Given the description of an element on the screen output the (x, y) to click on. 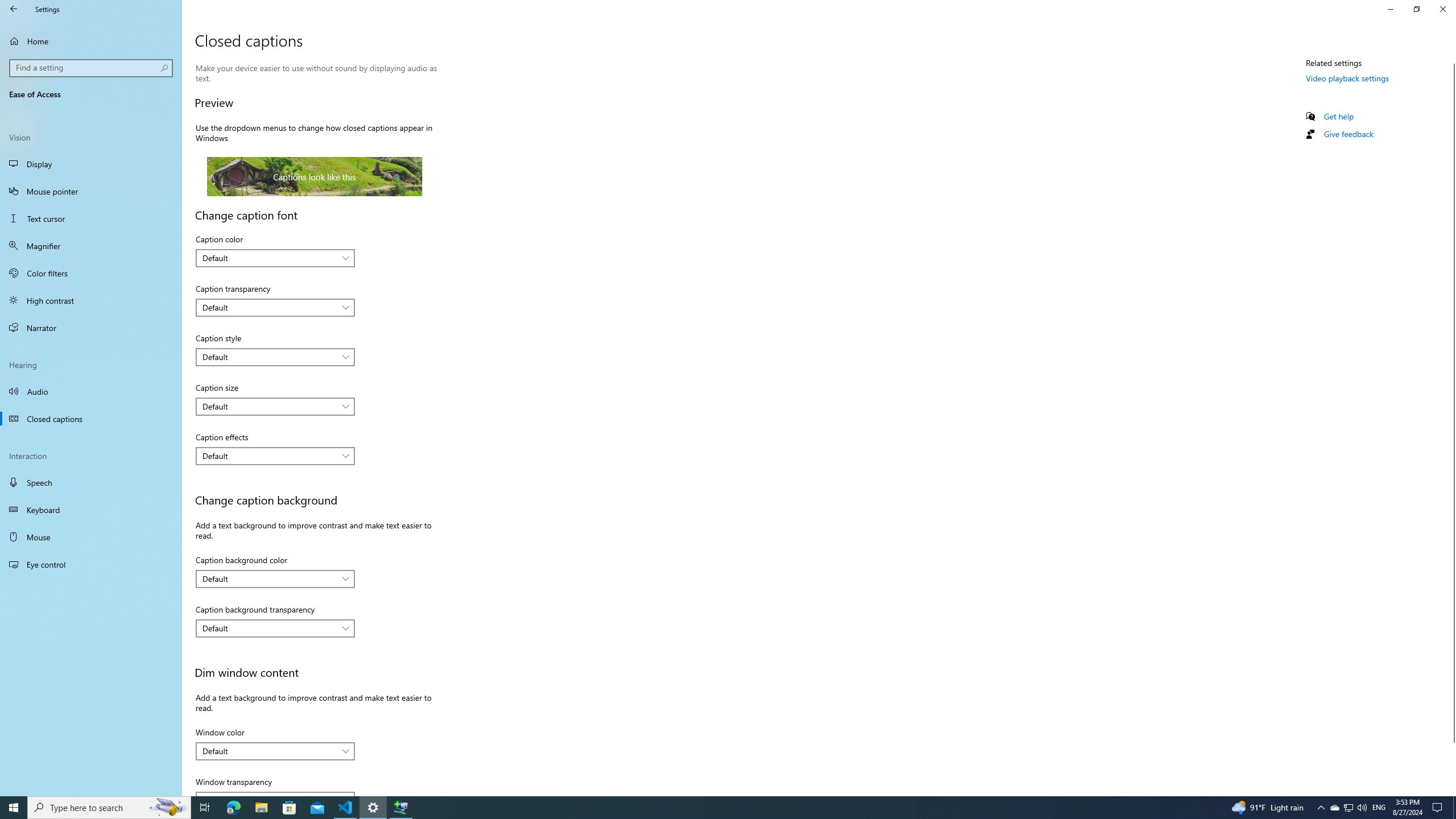
Video playback settings (1347, 77)
Color filters (91, 272)
Caption transparency (275, 307)
Caption effects (275, 456)
Eye control (91, 564)
Vertical Small Increase (1451, 791)
Text cursor (91, 217)
Caption background transparency (275, 628)
Audio (91, 390)
